Given the description of an element on the screen output the (x, y) to click on. 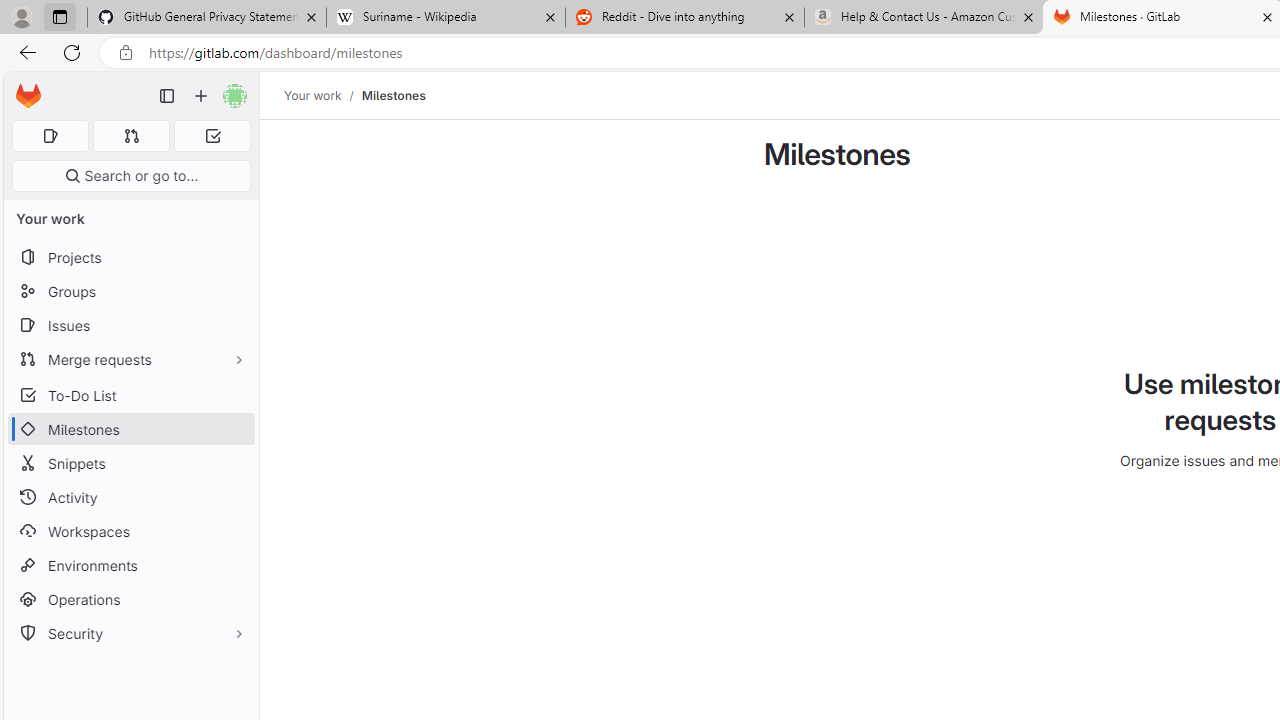
Assigned issues 0 (50, 136)
Your work/ (323, 95)
To-Do List (130, 394)
Projects (130, 257)
Groups (130, 291)
Issues (130, 325)
To-Do List (130, 394)
GitHub General Privacy Statement - GitHub Docs (207, 17)
Activity (130, 497)
Workspaces (130, 530)
Milestones (393, 95)
Operations (130, 599)
